Given the description of an element on the screen output the (x, y) to click on. 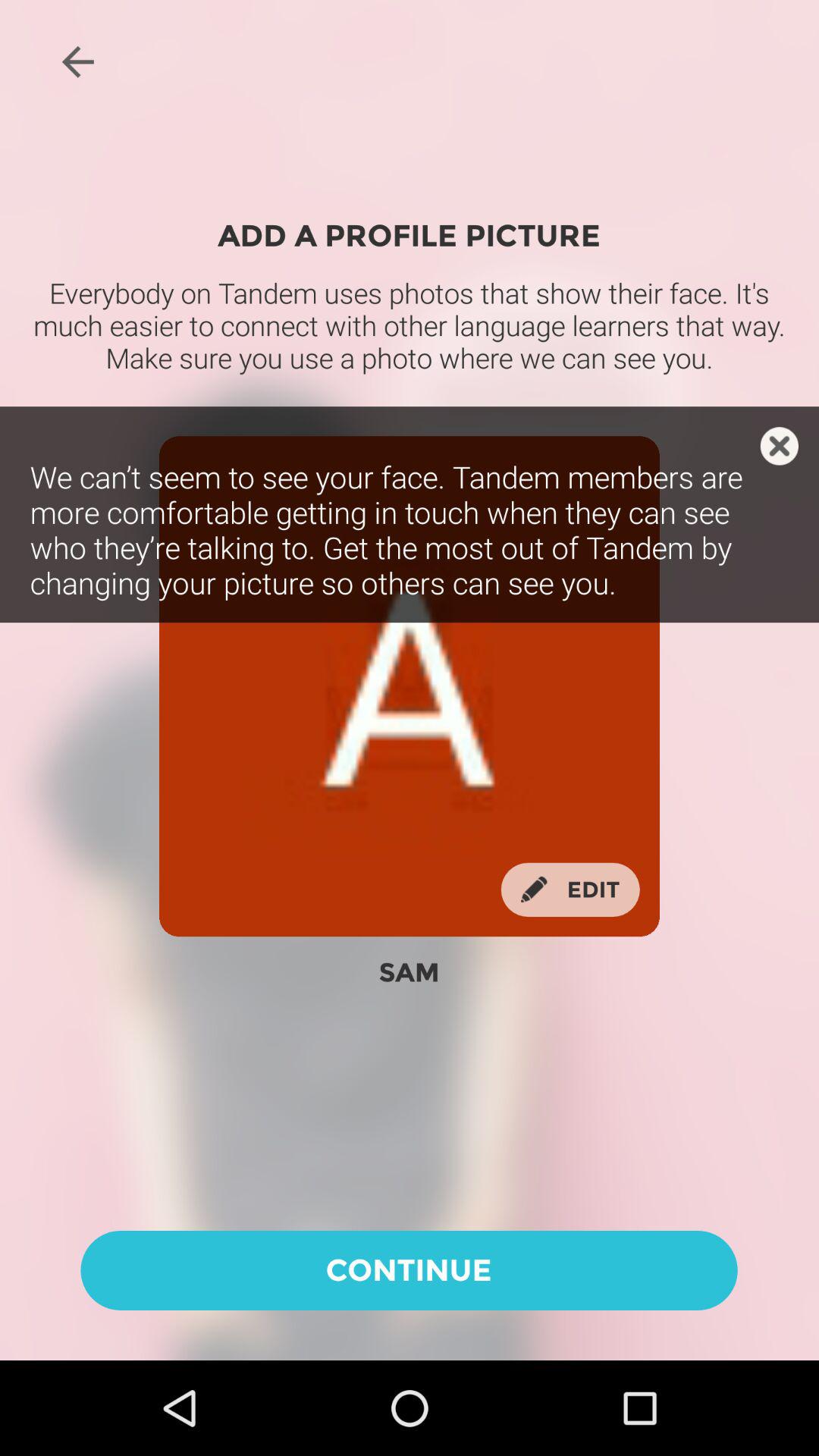
go to close (779, 445)
